Given the description of an element on the screen output the (x, y) to click on. 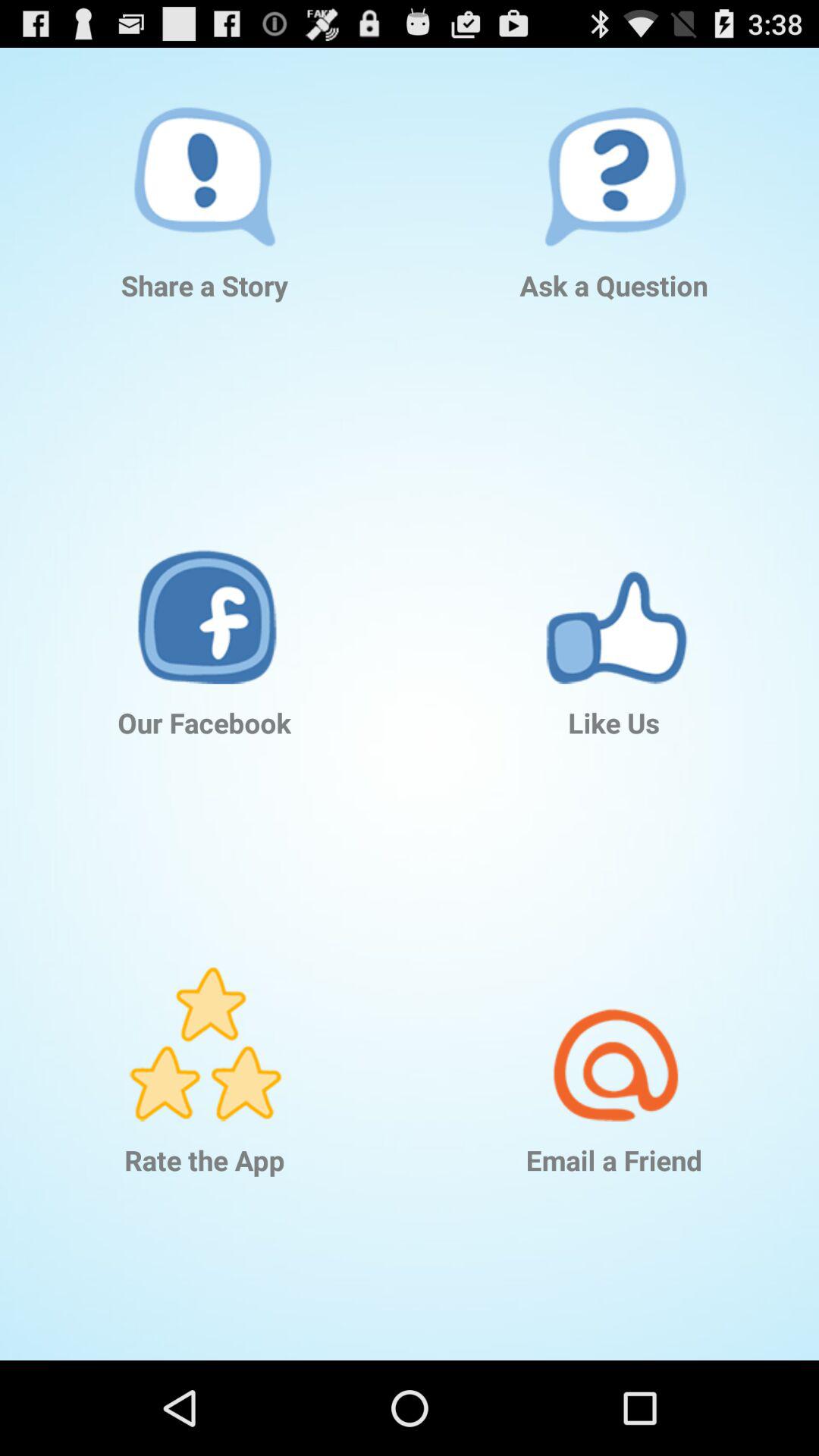
select the item above share a story icon (204, 146)
